Given the description of an element on the screen output the (x, y) to click on. 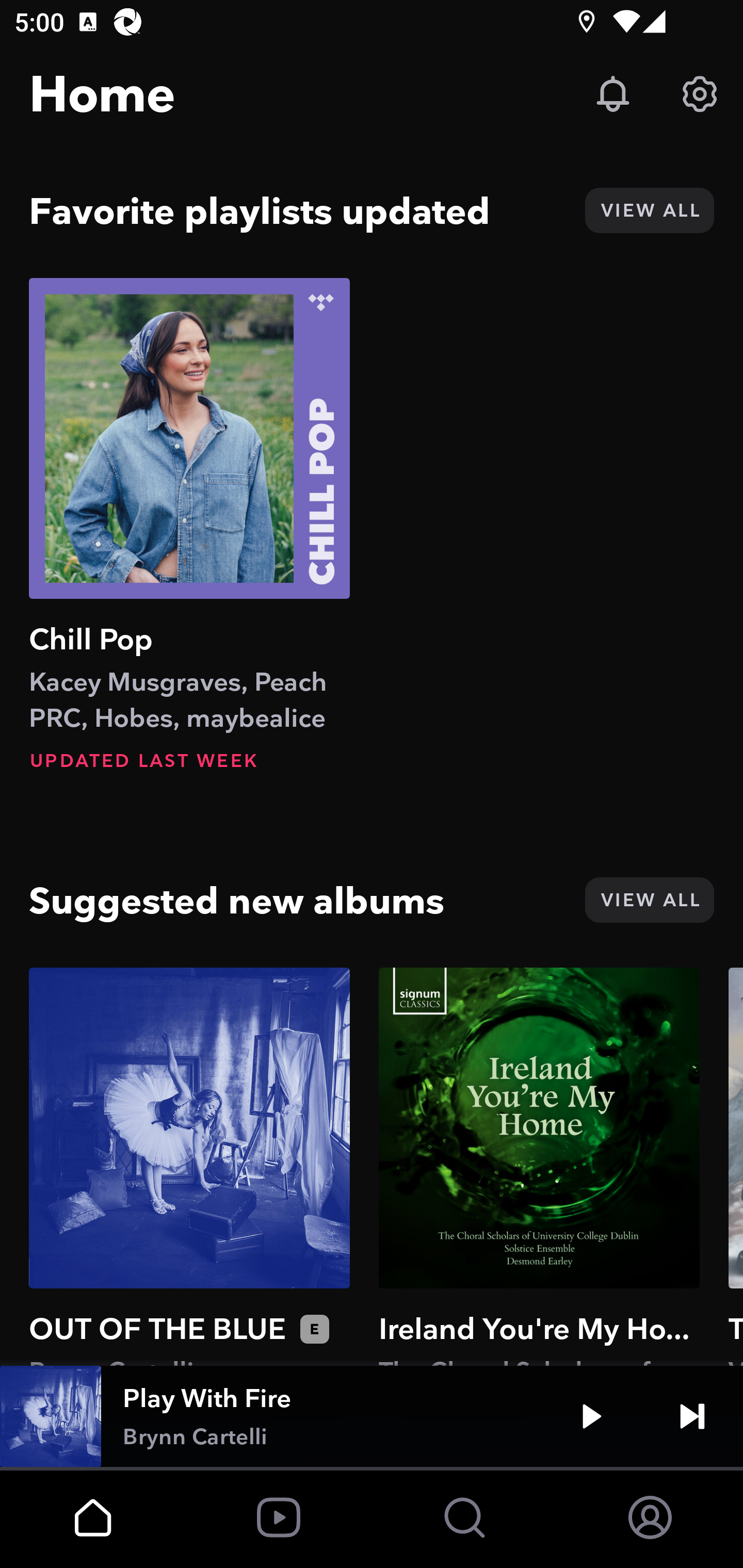
Updates (612, 93)
Settings (699, 93)
VIEW ALL (649, 210)
VIEW ALL (649, 899)
OUT OF THE BLUE Brynn Cartelli (188, 1166)
Play With Fire Brynn Cartelli Play (371, 1416)
Play (590, 1416)
